Given the description of an element on the screen output the (x, y) to click on. 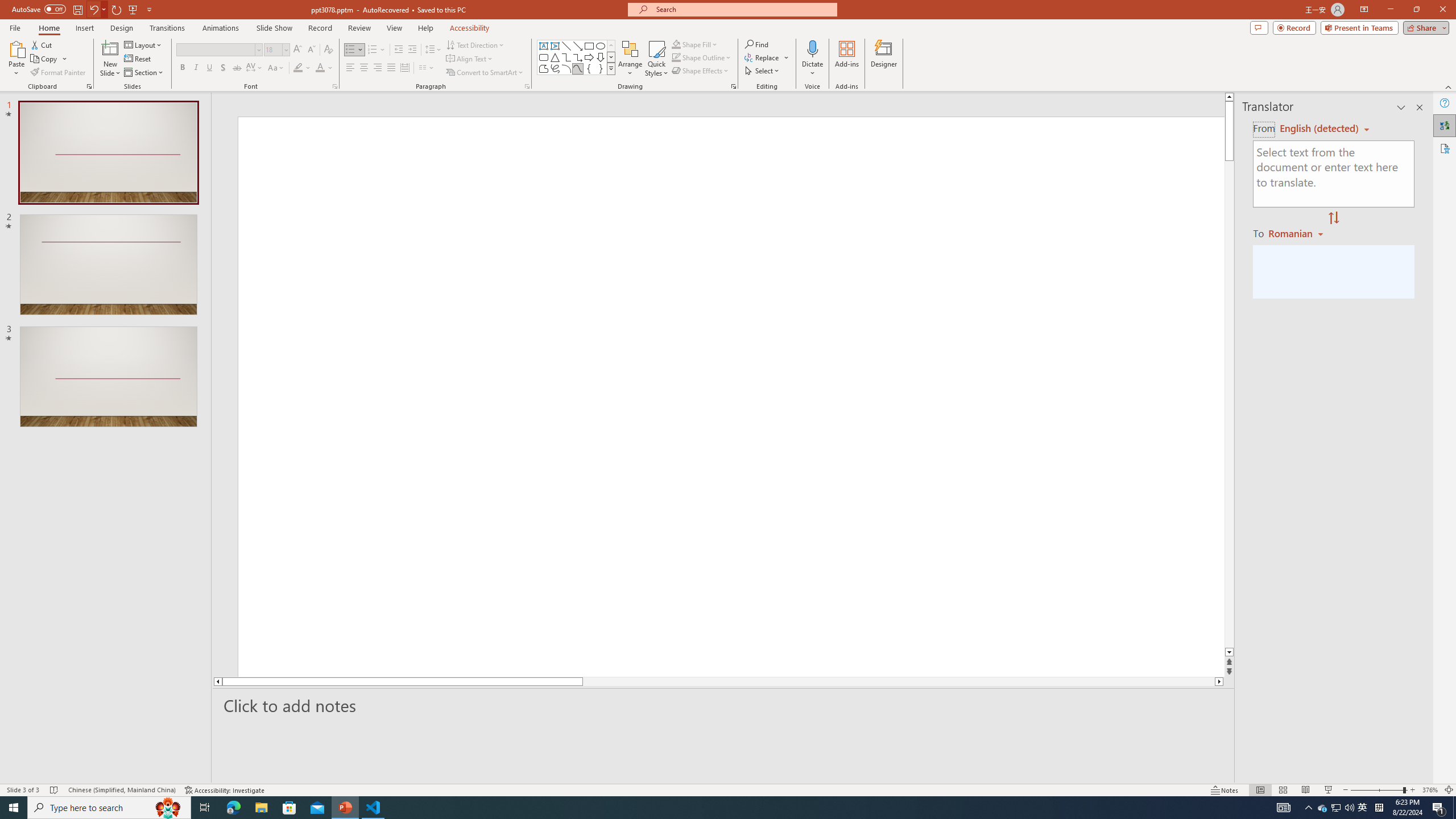
Shape Fill Dark Green, Accent 2 (675, 44)
Swap "from" and "to" languages. (1333, 218)
